Given the description of an element on the screen output the (x, y) to click on. 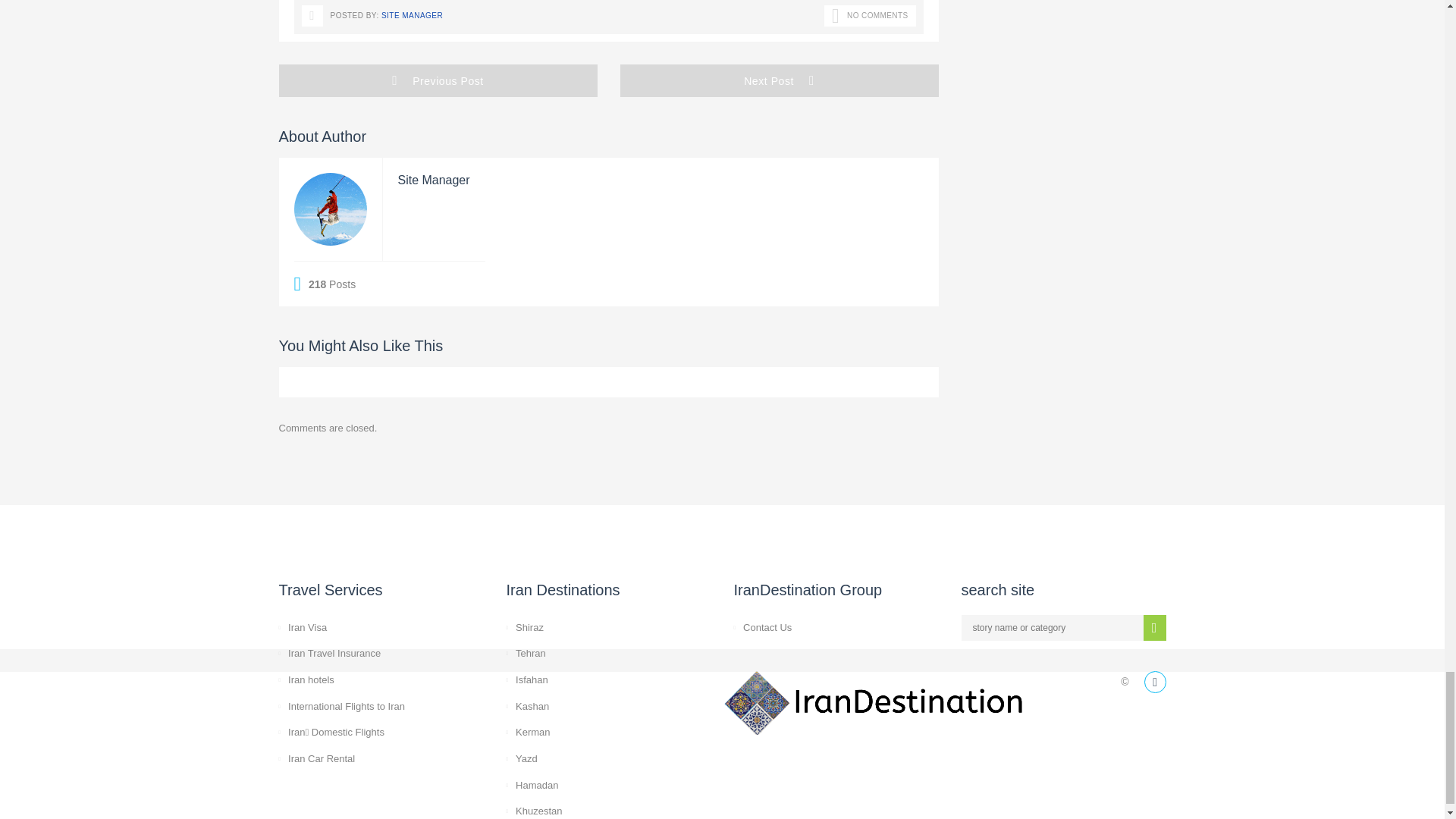
Posts by Site Manager (411, 15)
Posts by Site Manager (432, 179)
